Given the description of an element on the screen output the (x, y) to click on. 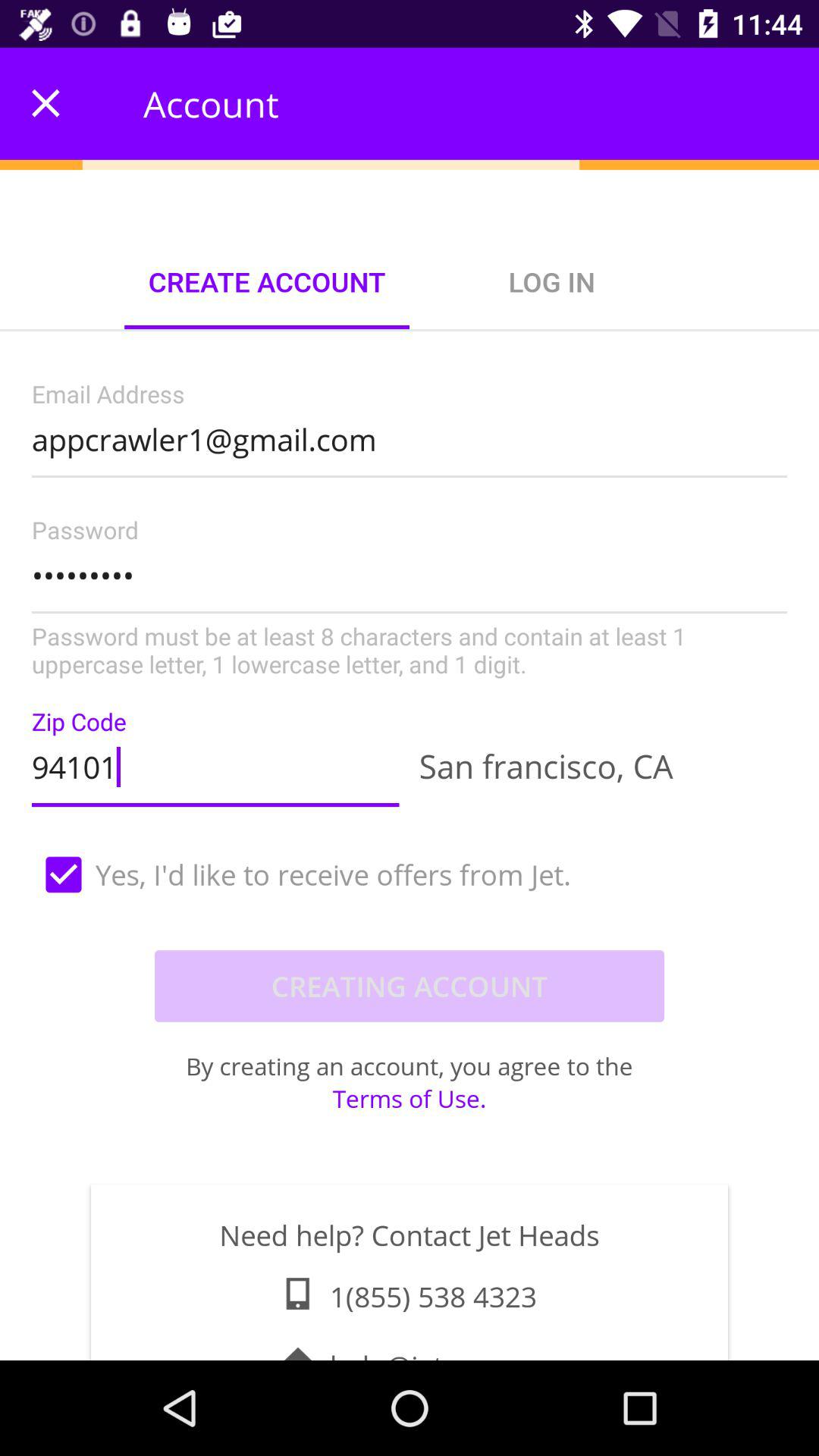
click yes i d (409, 874)
